Given the description of an element on the screen output the (x, y) to click on. 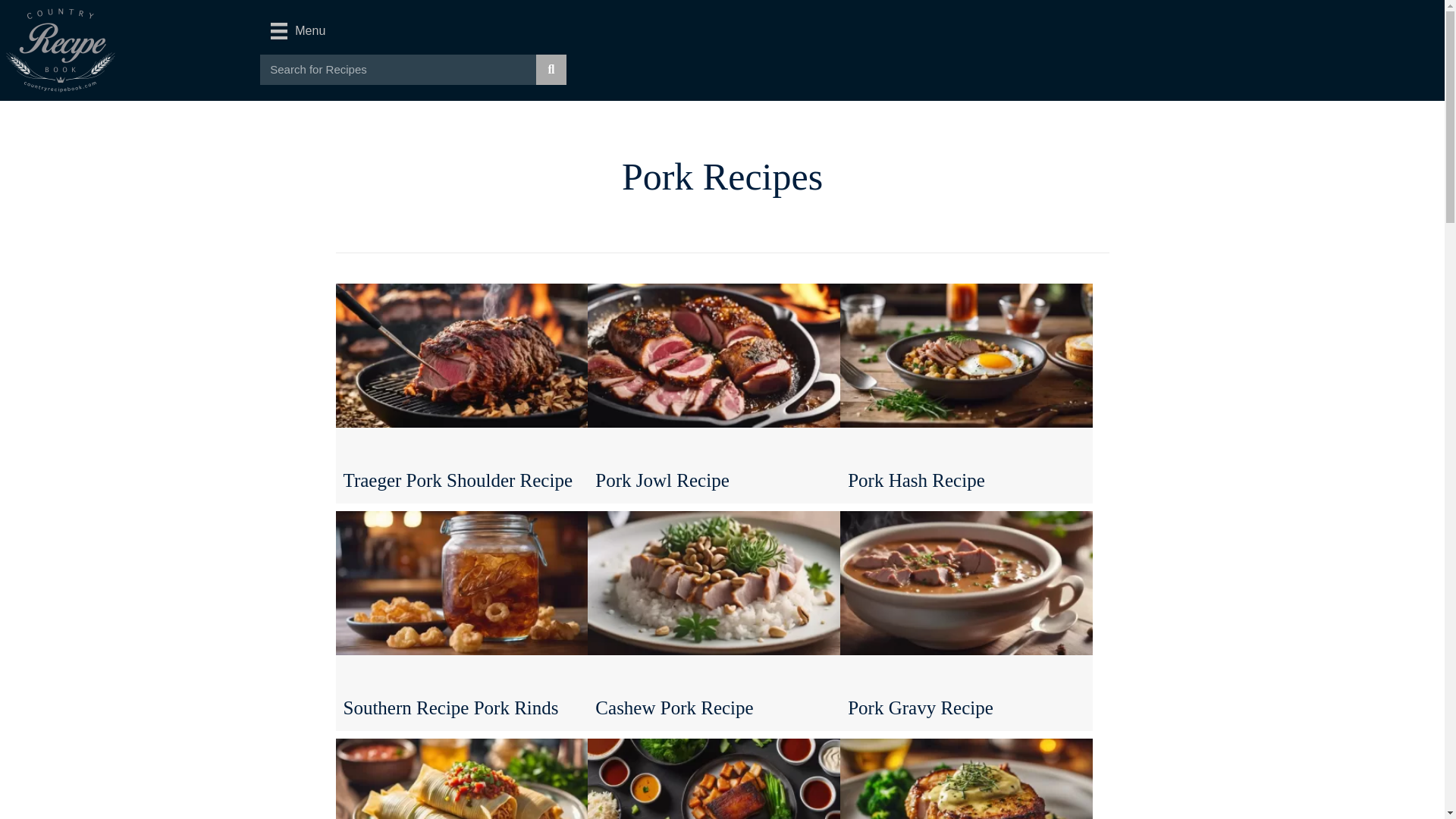
Traeger Pork Shoulder Recipe (461, 393)
Pork Gravy Recipe (966, 621)
Pork Jowl Recipe (714, 393)
savory pork and potatoes (966, 355)
tantalizing cashew pork dish (714, 583)
Cashew Pork Recipe (714, 621)
Pork Hash Recipe (966, 393)
Menu (298, 30)
savory homemade pork sauce (966, 583)
delicious pork jowl dish (714, 355)
crunchy snack from south (461, 583)
Search (397, 69)
Southern Recipe Pork Rinds (461, 621)
smoked pork shoulder perfection (461, 355)
352237d4-1a4a-4bdc-ace2-829f182514b2 (60, 50)
